Given the description of an element on the screen output the (x, y) to click on. 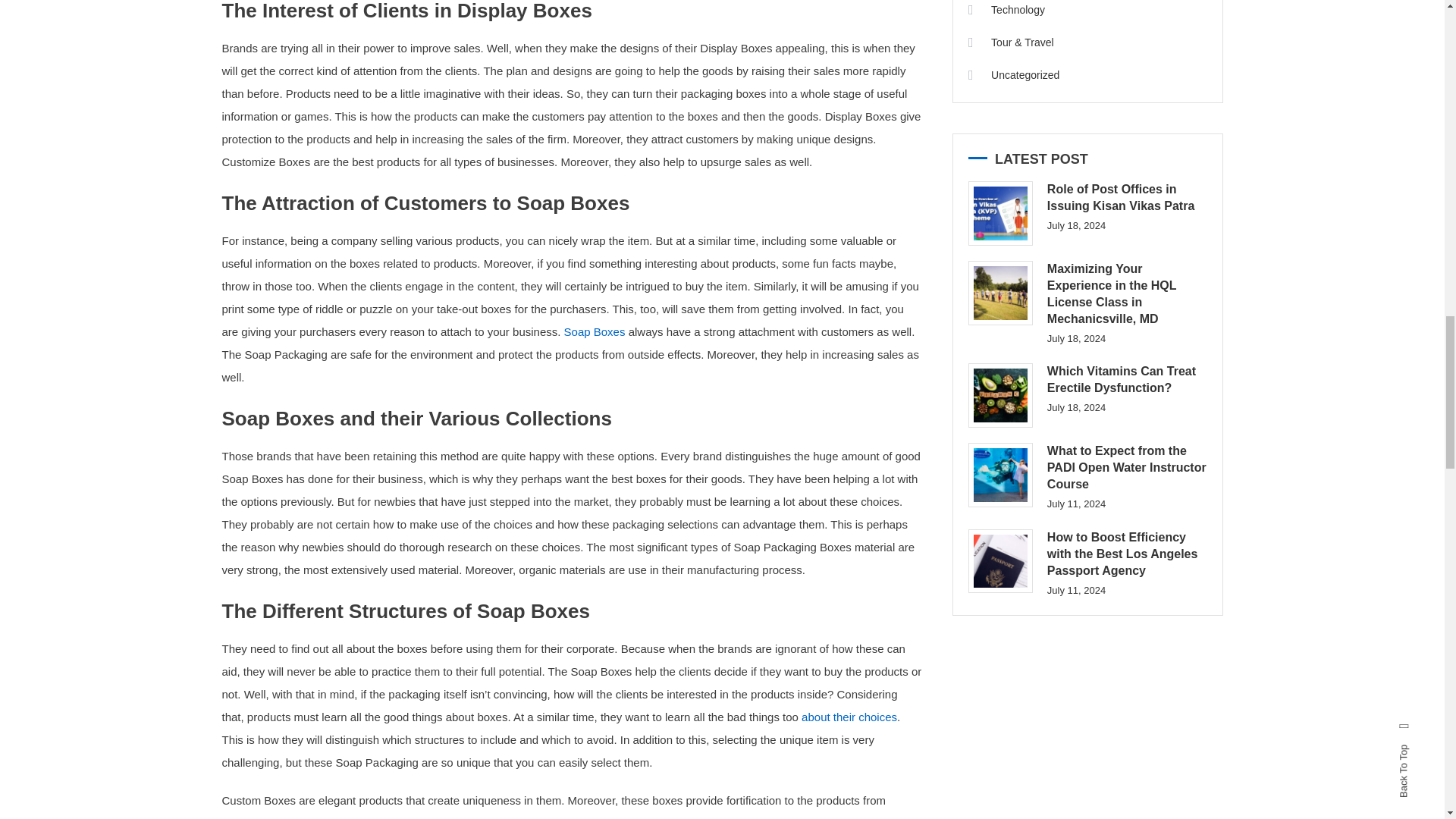
Role of Post Offices in Issuing Kisan Vikas Patra (1000, 212)
Which Vitamins Can Treat Erectile Dysfunction? (1000, 395)
What to Expect from the PADI Open Water Instructor Course (1000, 474)
